Given the description of an element on the screen output the (x, y) to click on. 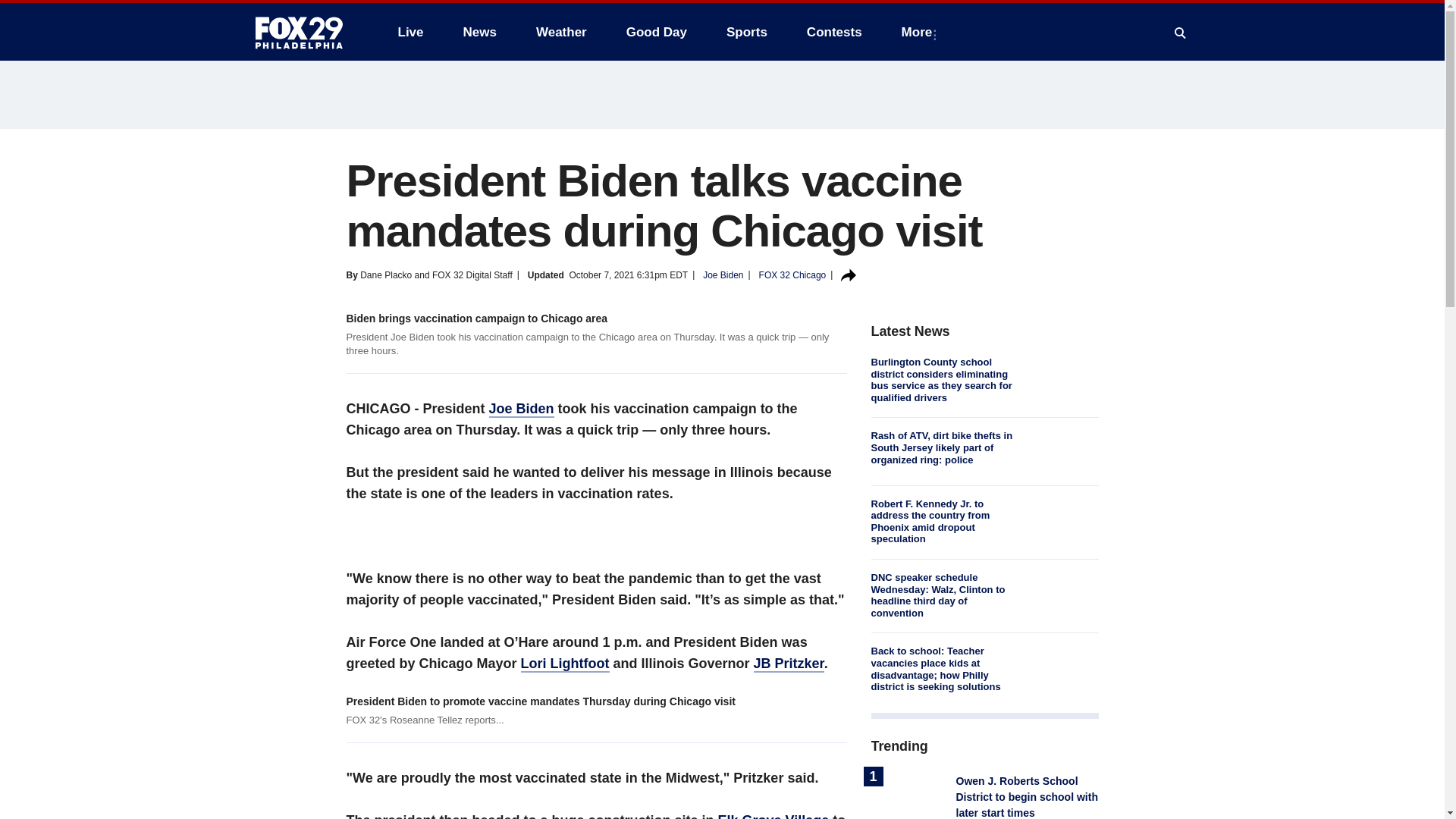
Live (410, 32)
Contests (834, 32)
News (479, 32)
Weather (561, 32)
More (919, 32)
Sports (746, 32)
Good Day (656, 32)
